Given the description of an element on the screen output the (x, y) to click on. 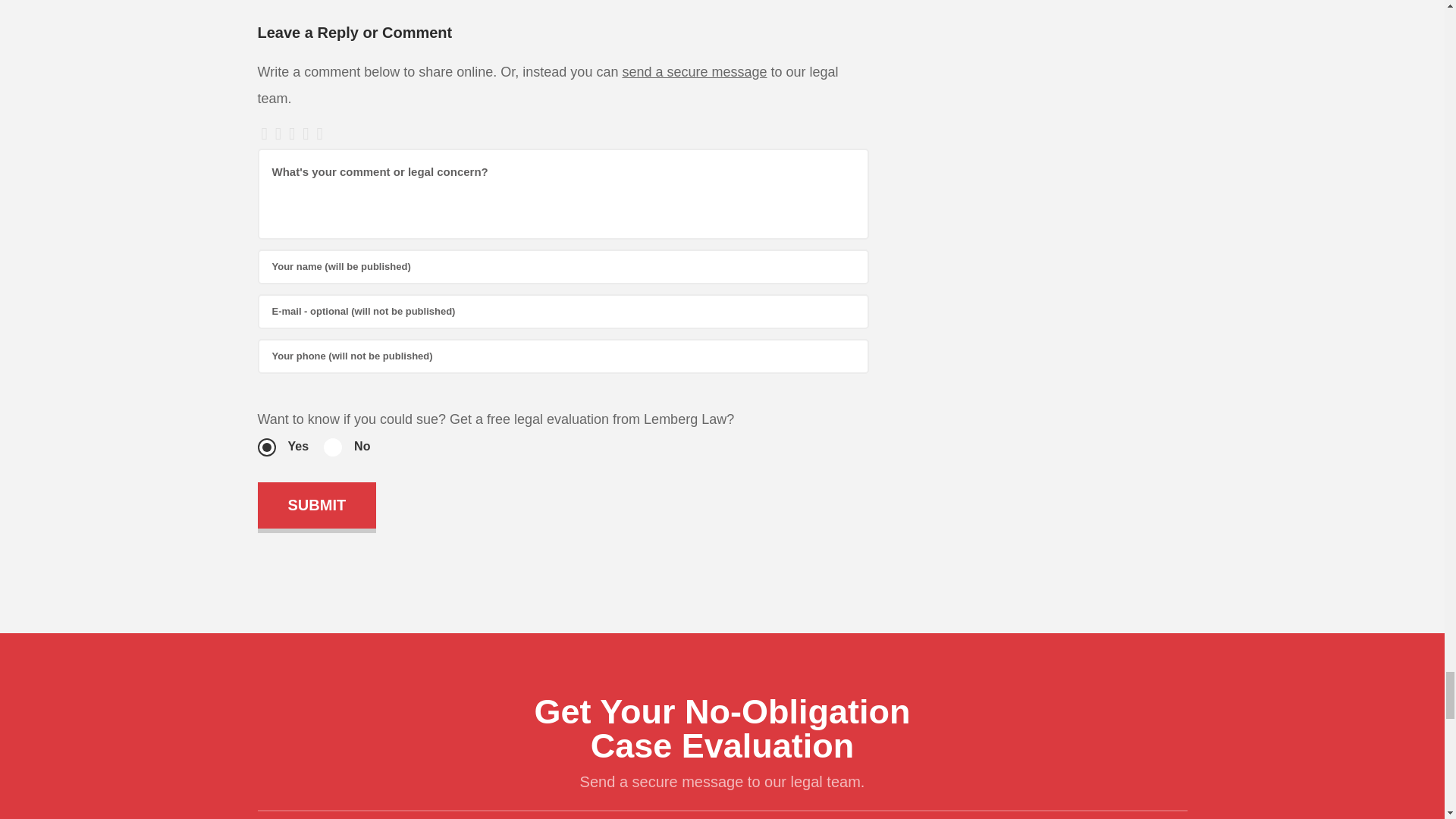
SUBMIT (317, 505)
send a secure message (694, 72)
SUBMIT (317, 505)
